Given the description of an element on the screen output the (x, y) to click on. 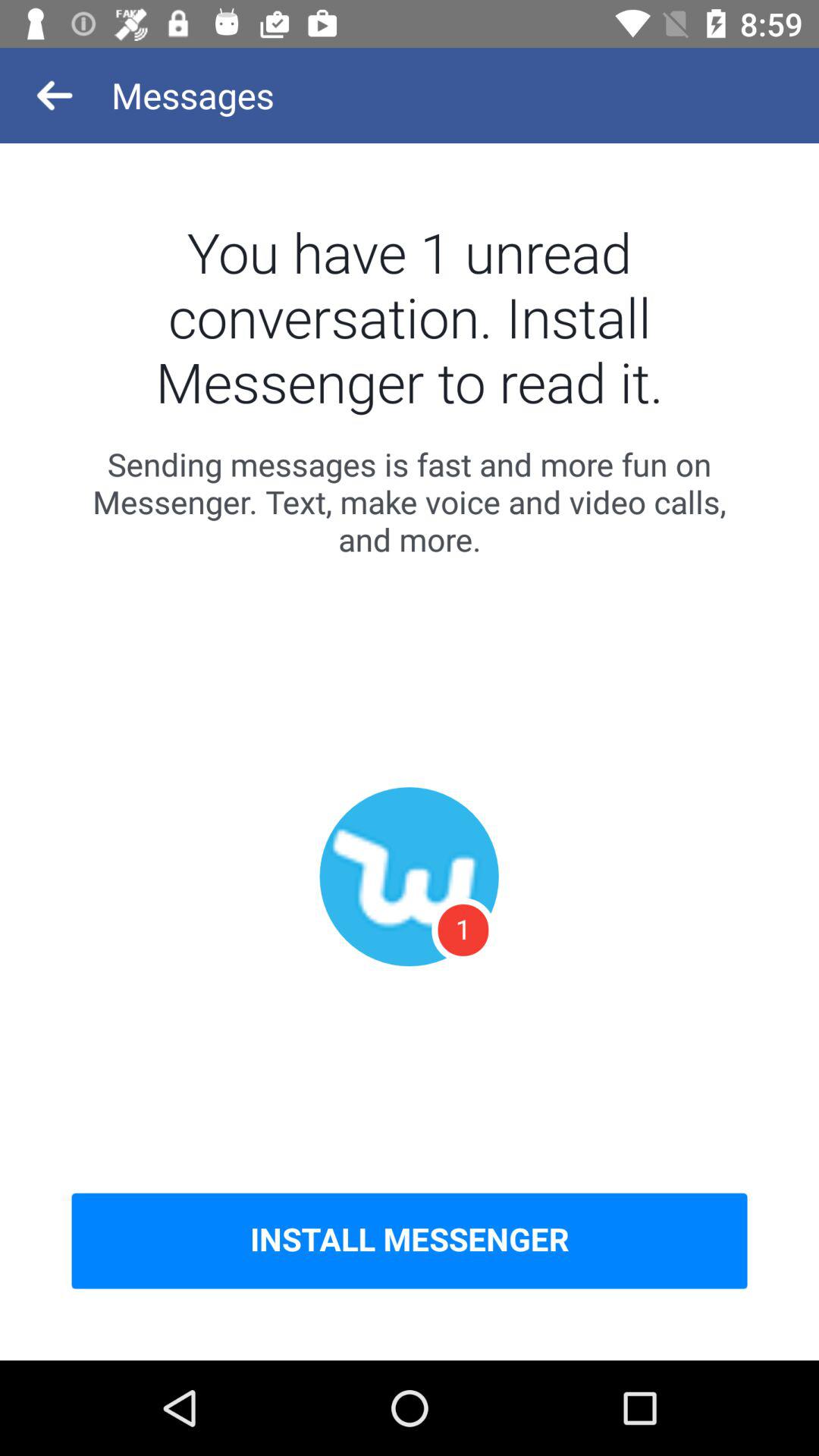
turn off item at the top left corner (55, 95)
